Given the description of an element on the screen output the (x, y) to click on. 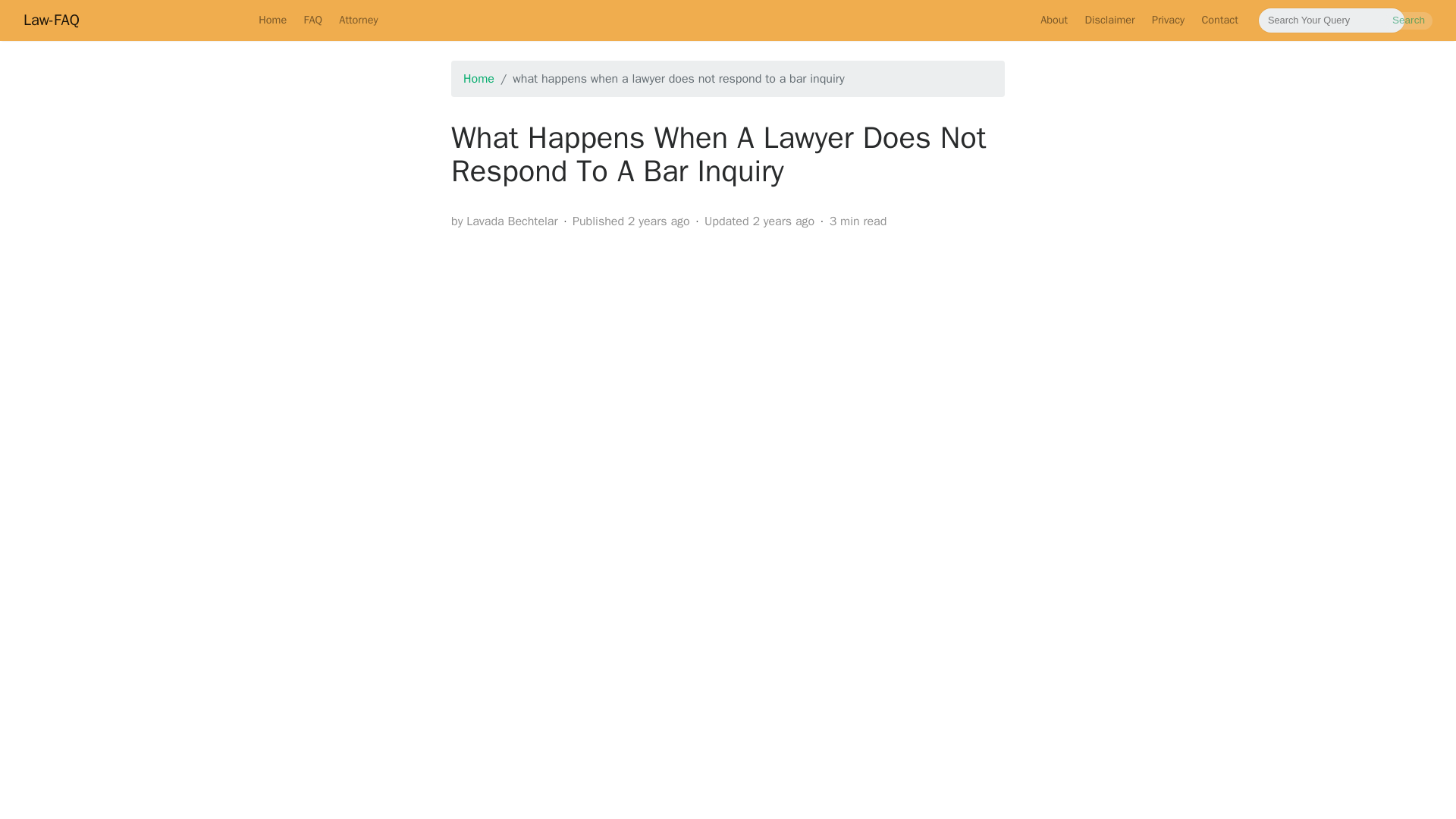
Home (272, 20)
About (1053, 20)
Disclaimer (1108, 20)
Law-FAQ (51, 20)
Home (479, 78)
Privacy (1167, 20)
Search (1408, 20)
FAQ (312, 20)
Attorney (358, 20)
Contact (1219, 20)
